Given the description of an element on the screen output the (x, y) to click on. 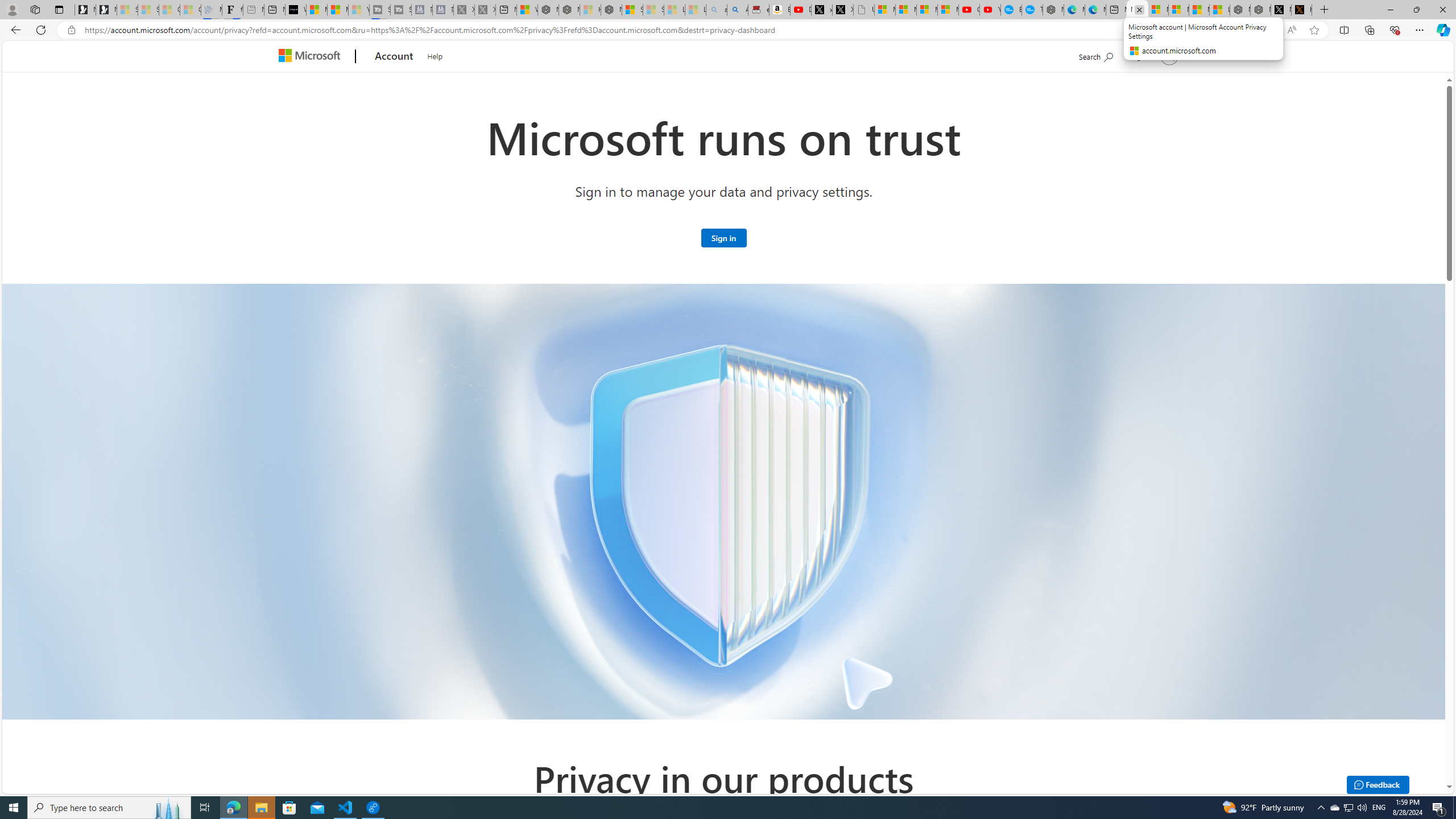
Minimize (1390, 9)
Help (434, 54)
Copilot (Ctrl+Shift+.) (1442, 29)
New Tab (1324, 9)
X - Sleeping (485, 9)
Help (435, 54)
Newsletter Sign Up (106, 9)
Refresh (40, 29)
YouTube Kids - An App Created for Kids to Explore Content (990, 9)
Microsoft (311, 56)
Add this page to favorites (Ctrl+D) (1314, 29)
